Given the description of an element on the screen output the (x, y) to click on. 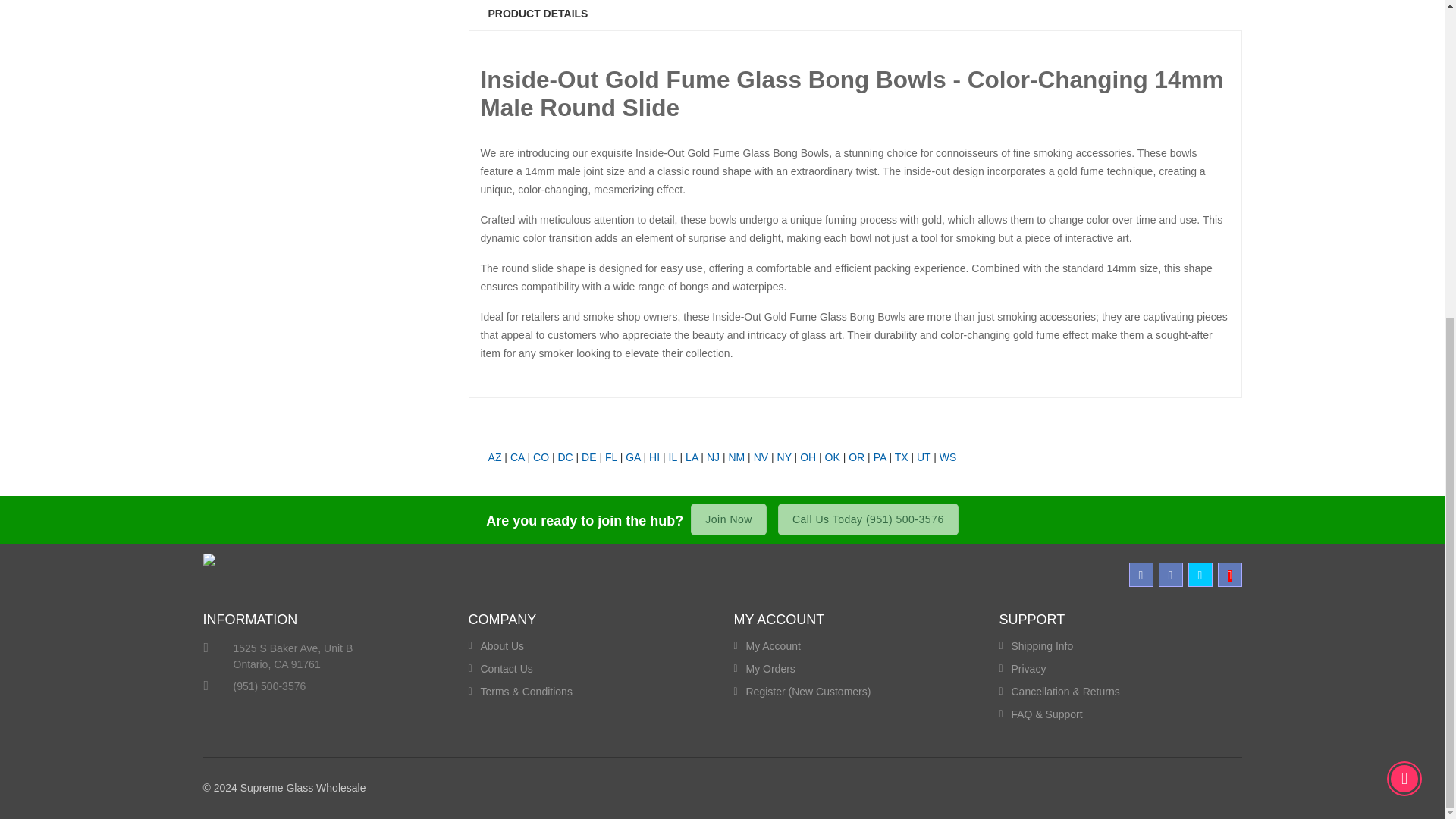
Twitter (1199, 574)
Youtube (1229, 574)
Instagram (1171, 575)
Facebook (1140, 574)
